Given the description of an element on the screen output the (x, y) to click on. 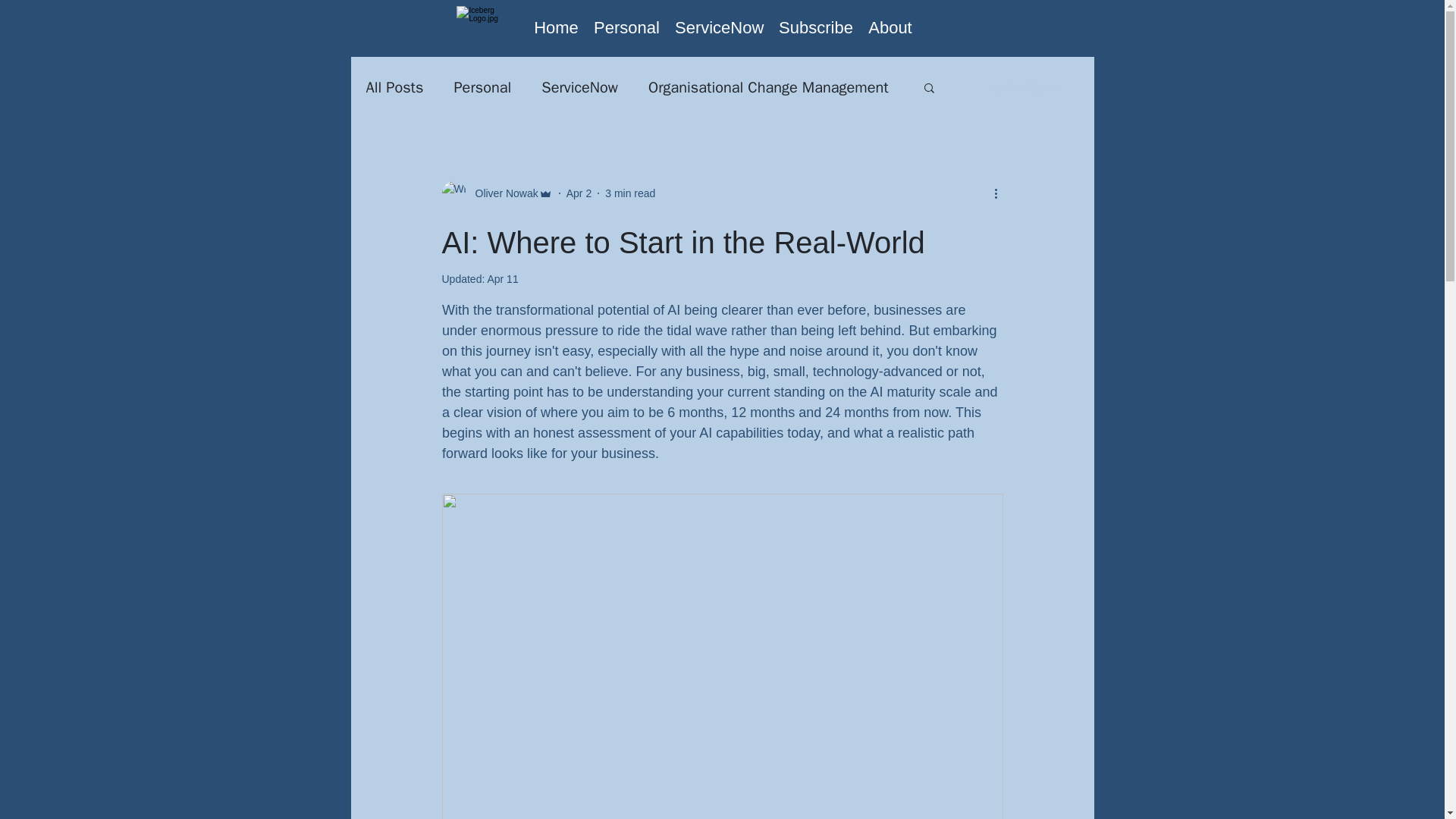
Home (555, 27)
Oliver Nowak (501, 192)
ServiceNow (579, 86)
3 min read (630, 192)
Apr 11 (502, 278)
Subscribe (815, 27)
Personal (626, 27)
Organisational Change Management (767, 86)
Apr 2 (578, 192)
About (890, 27)
ServiceNow (718, 27)
All Posts (394, 86)
Personal (481, 86)
